Given the description of an element on the screen output the (x, y) to click on. 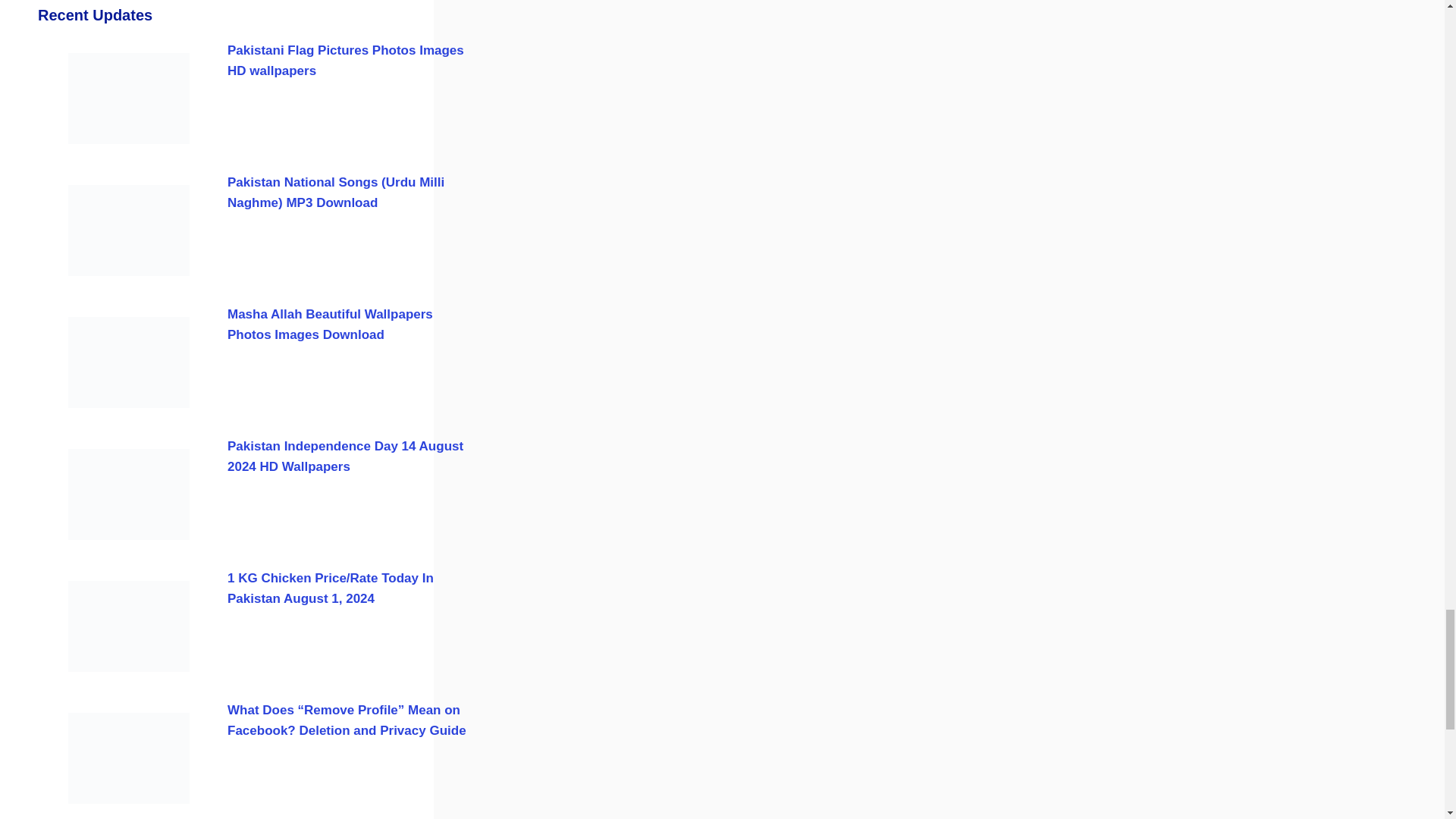
Masha Allah Beautiful Wallpapers Photos Images Download (329, 324)
Pakistani Flag Pictures Photos Images HD wallpapers (345, 60)
Pakistan Independence Day 14 August 2024 HD Wallpapers (345, 456)
